Given the description of an element on the screen output the (x, y) to click on. 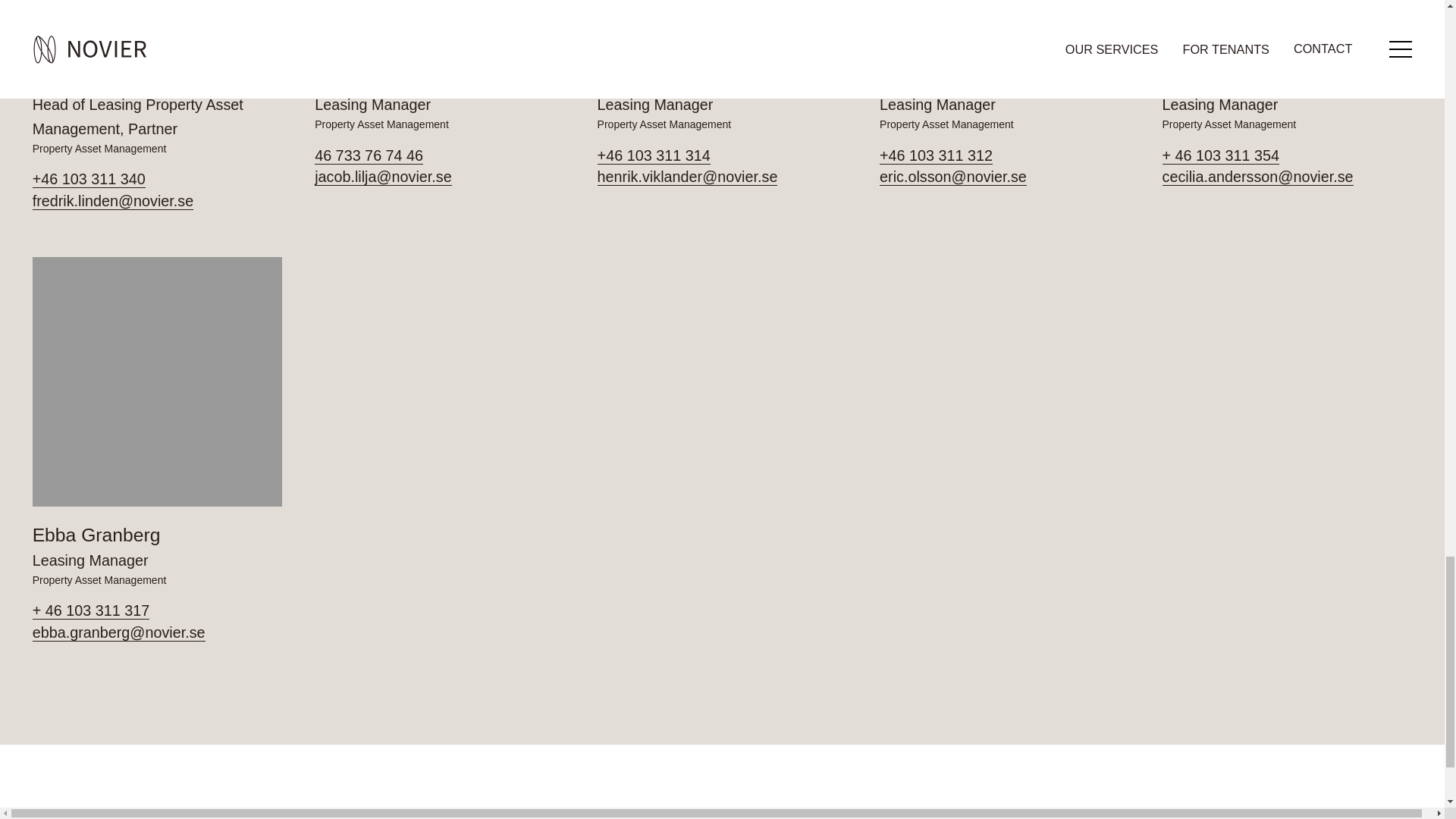
46 733 76 74 46 (439, 155)
